Given the description of an element on the screen output the (x, y) to click on. 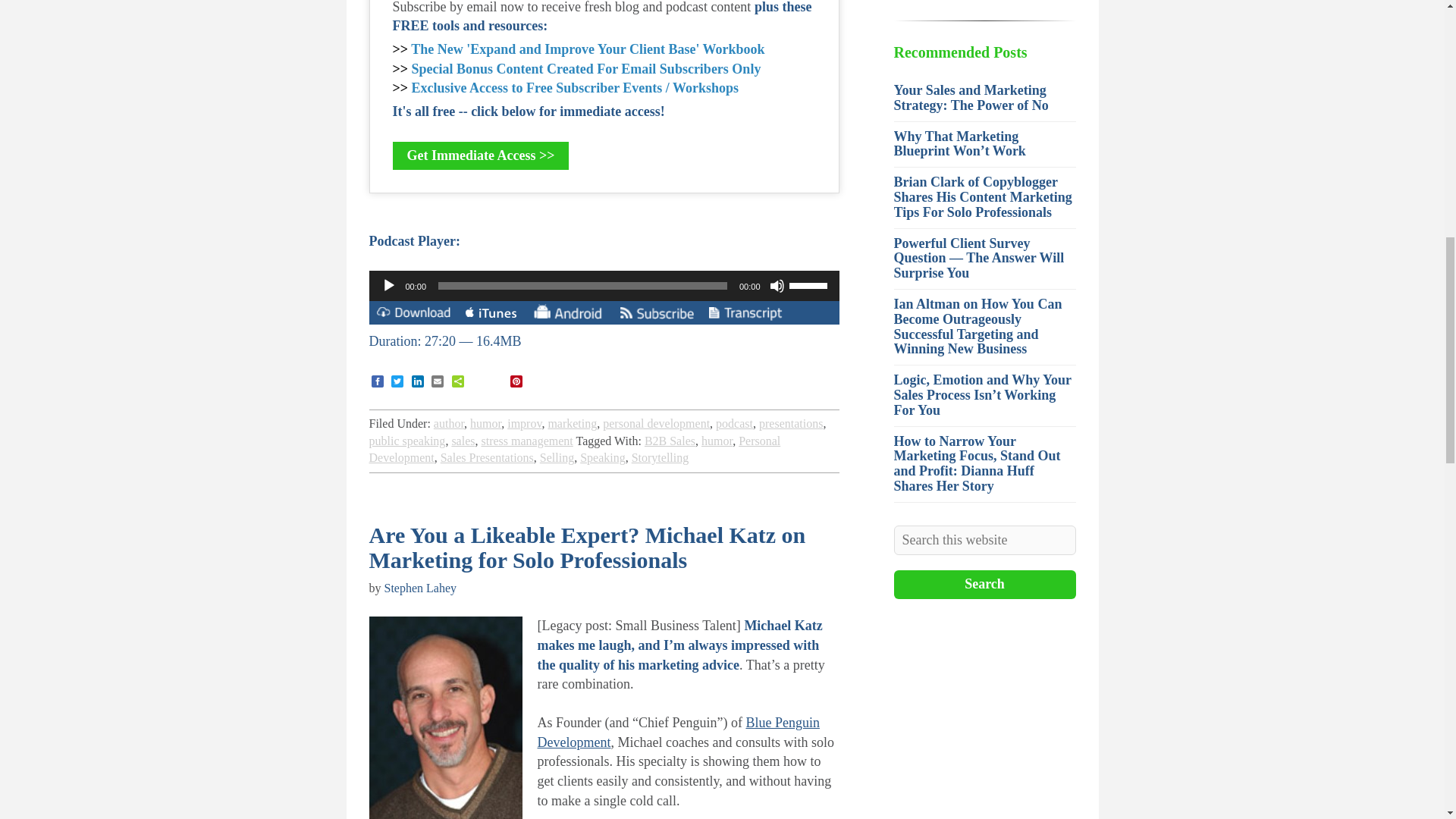
sales (462, 440)
presentations (790, 422)
Download (412, 314)
Transcript (744, 314)
Blue Penguin Development (677, 732)
podcast (734, 422)
Subscribe (657, 314)
Play (388, 285)
humor (485, 422)
stress management (526, 440)
Mute (776, 285)
Search (984, 584)
author (448, 422)
Android (567, 311)
personal development (656, 422)
